Given the description of an element on the screen output the (x, y) to click on. 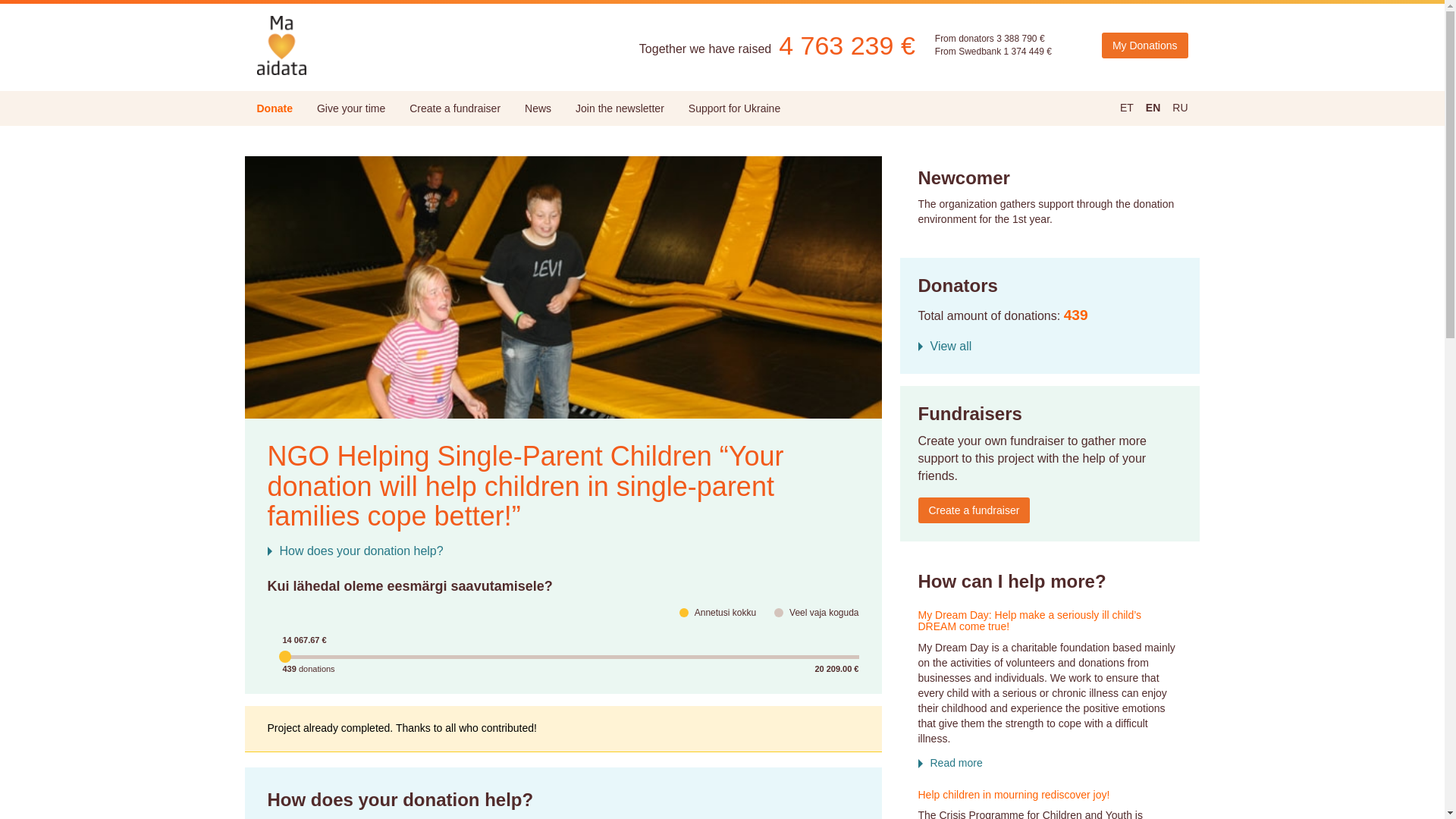
Support for Ukraine (734, 108)
How does your donation help? (354, 551)
Join the newsletter (620, 108)
Give your time (350, 108)
Create a fundraiser (454, 108)
Donate (274, 108)
ET (1126, 107)
EN (1152, 107)
News (537, 108)
RU (1180, 107)
